Given the description of an element on the screen output the (x, y) to click on. 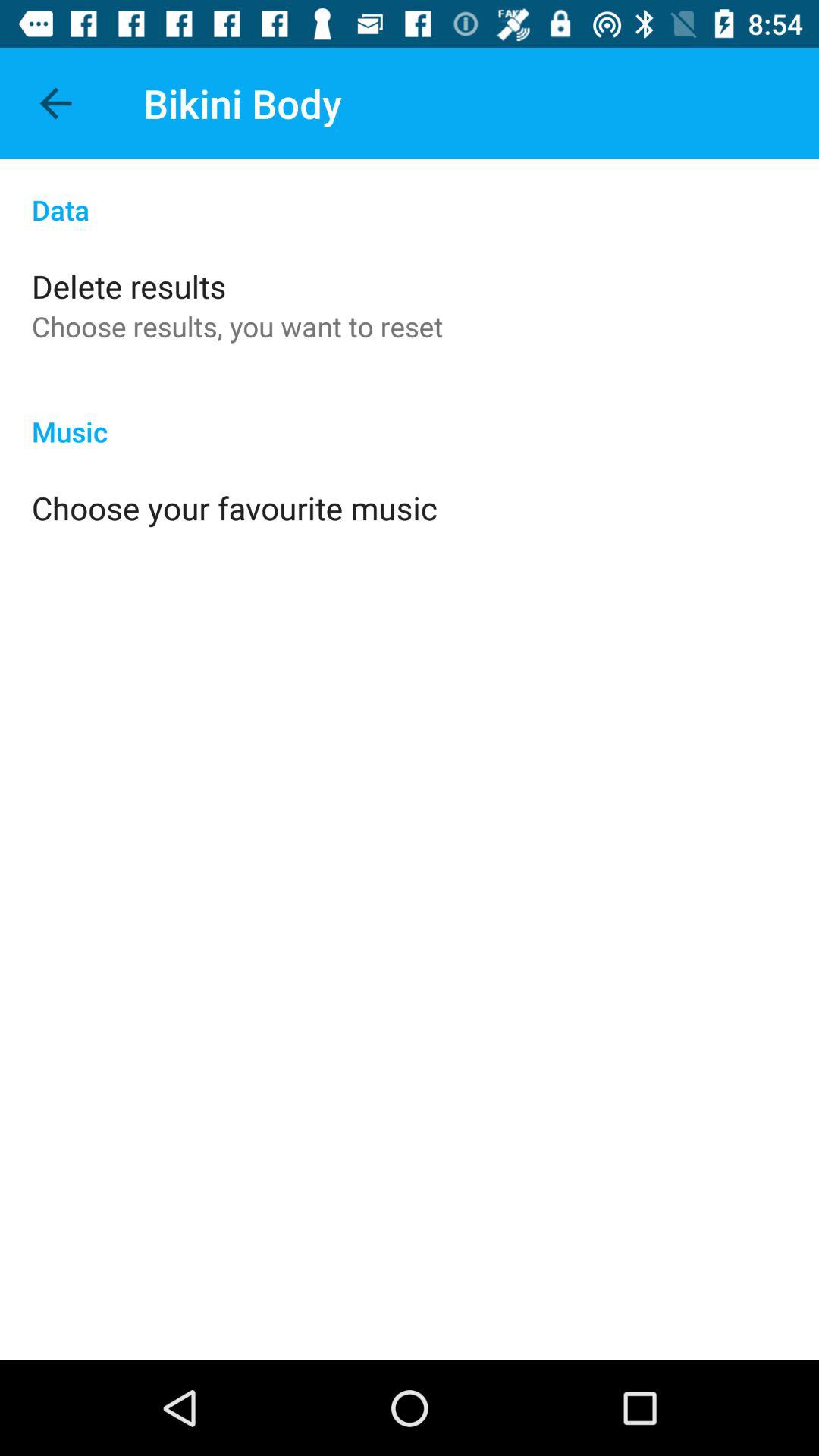
jump to the choose results you app (237, 326)
